Given the description of an element on the screen output the (x, y) to click on. 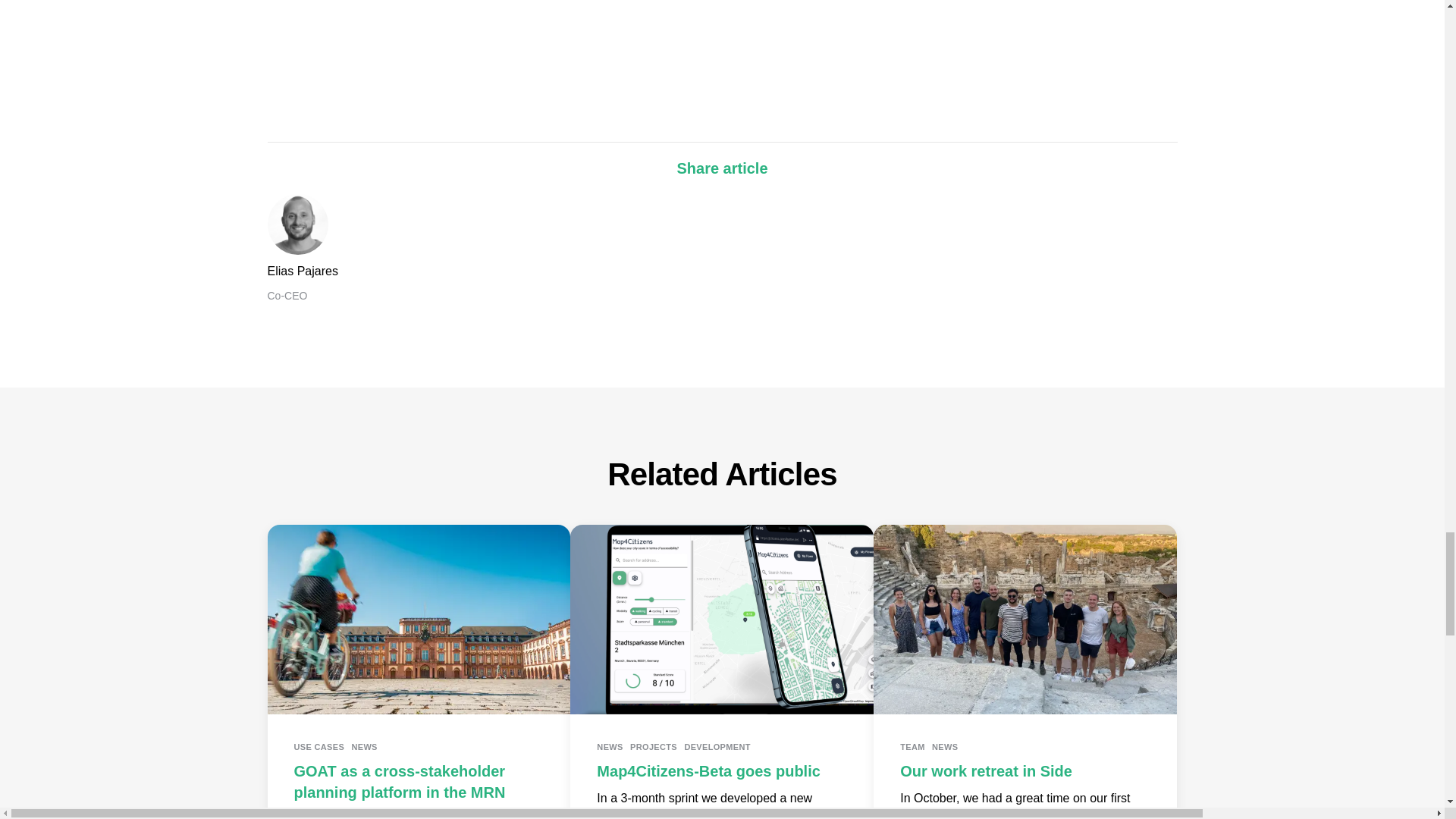
USE CASES (319, 746)
GOAT as a cross-stakeholder planning platform in the MRN (399, 781)
NEWS (363, 746)
